Given the description of an element on the screen output the (x, y) to click on. 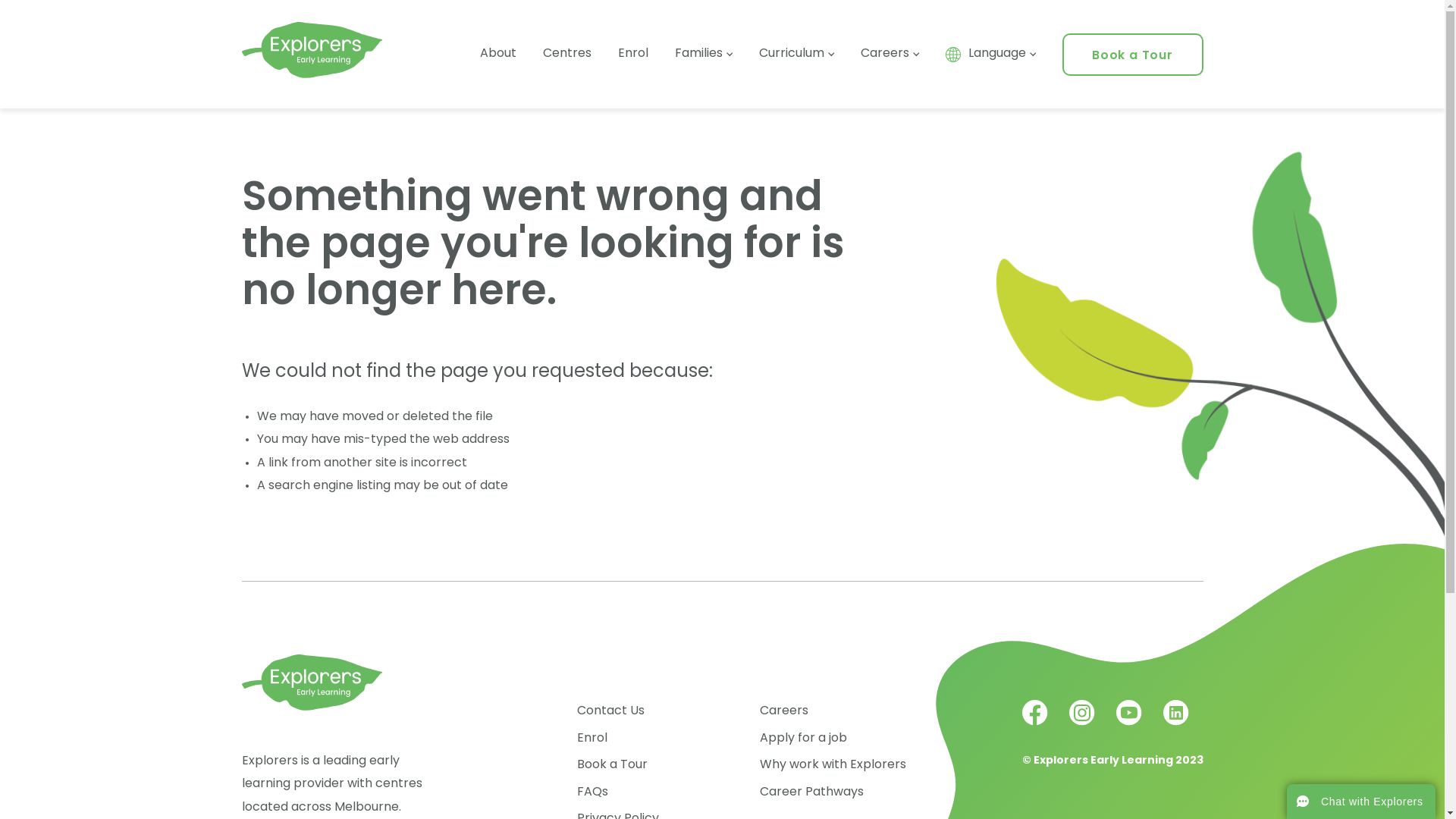
Book a Tour Element type: text (612, 765)
Centres Element type: text (566, 53)
Career Pathways Element type: text (811, 792)
Careers Element type: text (888, 53)
Follow on Instagram Element type: hover (1083, 722)
Follow on Linkedin Element type: hover (1176, 722)
Apply for a job Element type: text (803, 738)
Book a Tour Element type: text (1132, 56)
Contact Us Element type: text (610, 711)
FAQs Element type: text (592, 792)
Careers Element type: text (783, 711)
Language Element type: text (989, 53)
Families Element type: text (703, 53)
Why work with Explorers Element type: text (832, 765)
Follow on Youtube Element type: hover (1130, 722)
Follow on Facebook Element type: hover (1036, 722)
About Element type: text (497, 53)
Enrol Element type: text (592, 738)
Curriculum Element type: text (795, 53)
Enrol Element type: text (632, 53)
